Given the description of an element on the screen output the (x, y) to click on. 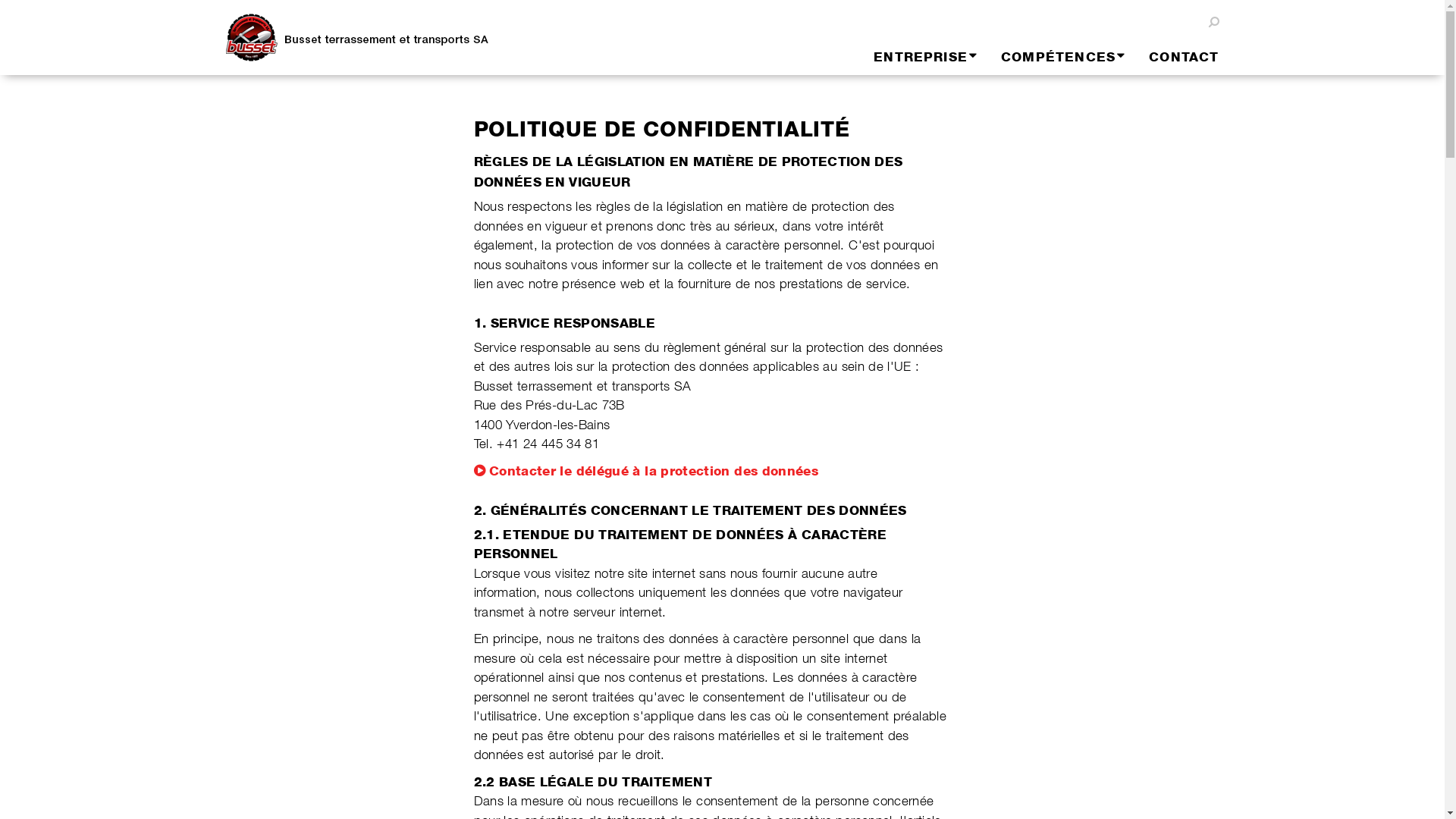
Busset Terrassement et Transports SA (fr) Element type: hover (369, 37)
CONTACT Element type: text (1171, 56)
ENTREPRISE Element type: text (913, 56)
